Given the description of an element on the screen output the (x, y) to click on. 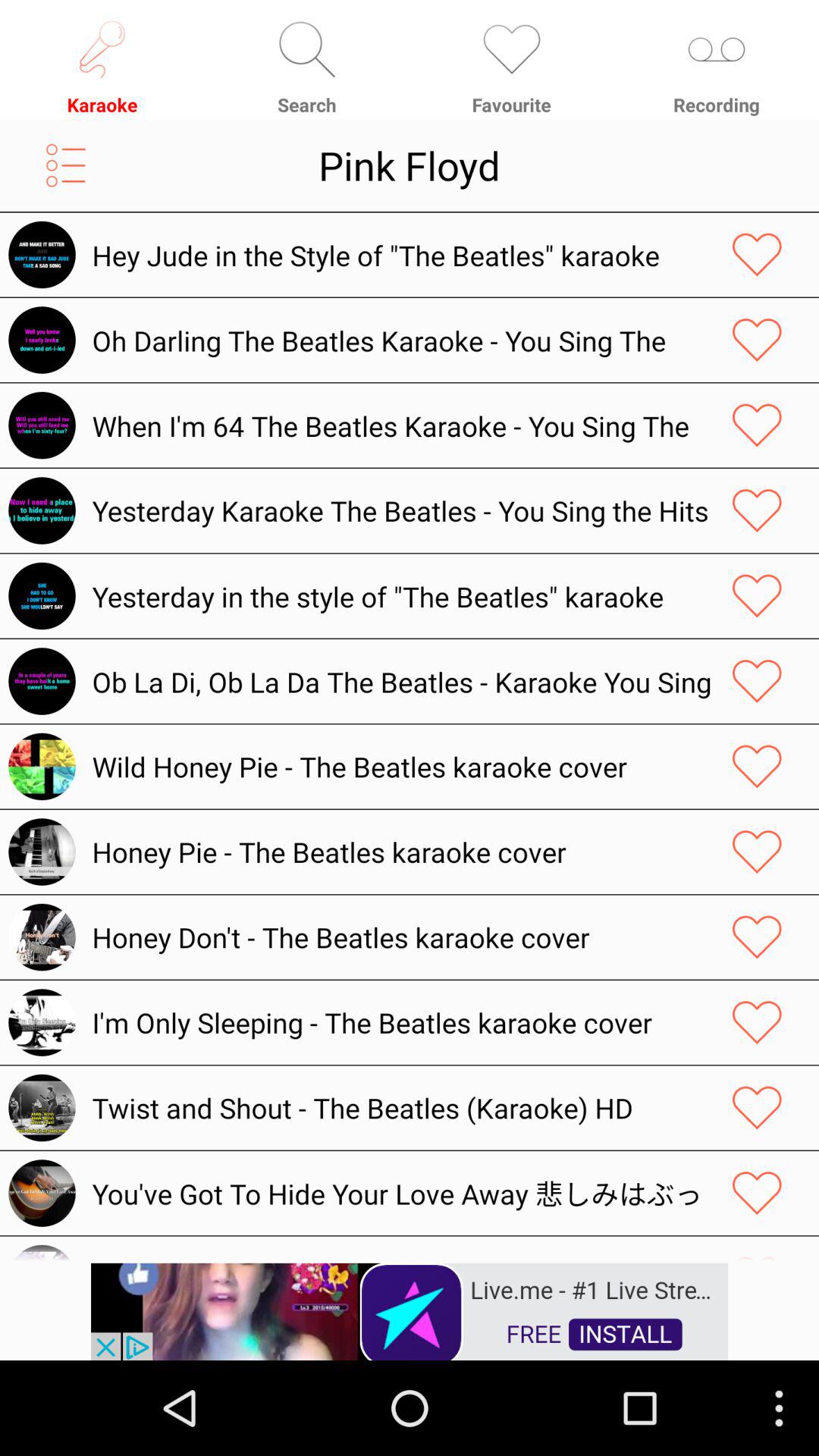
like a music (756, 1107)
